Given the description of an element on the screen output the (x, y) to click on. 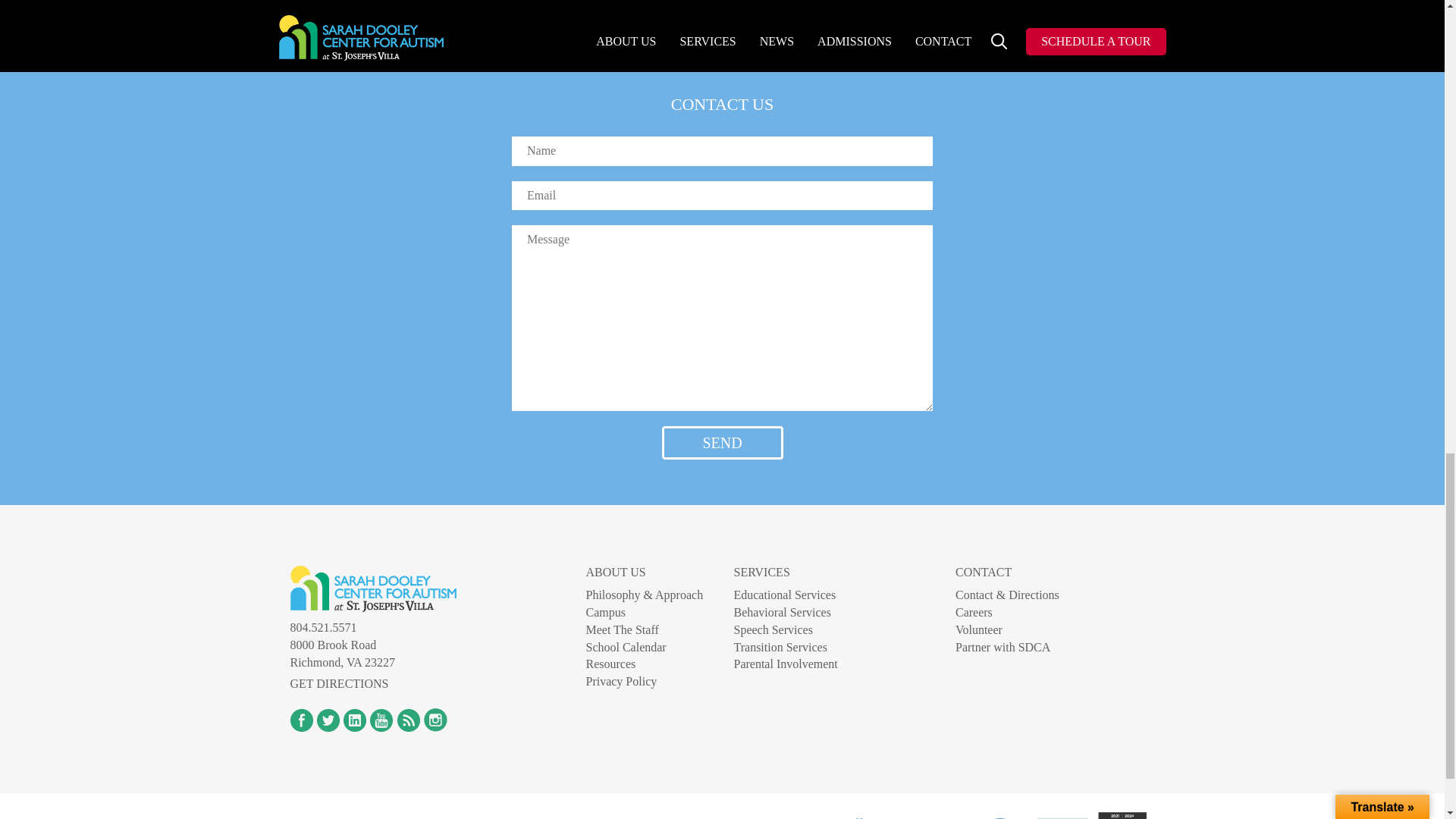
Send (722, 442)
